Given the description of an element on the screen output the (x, y) to click on. 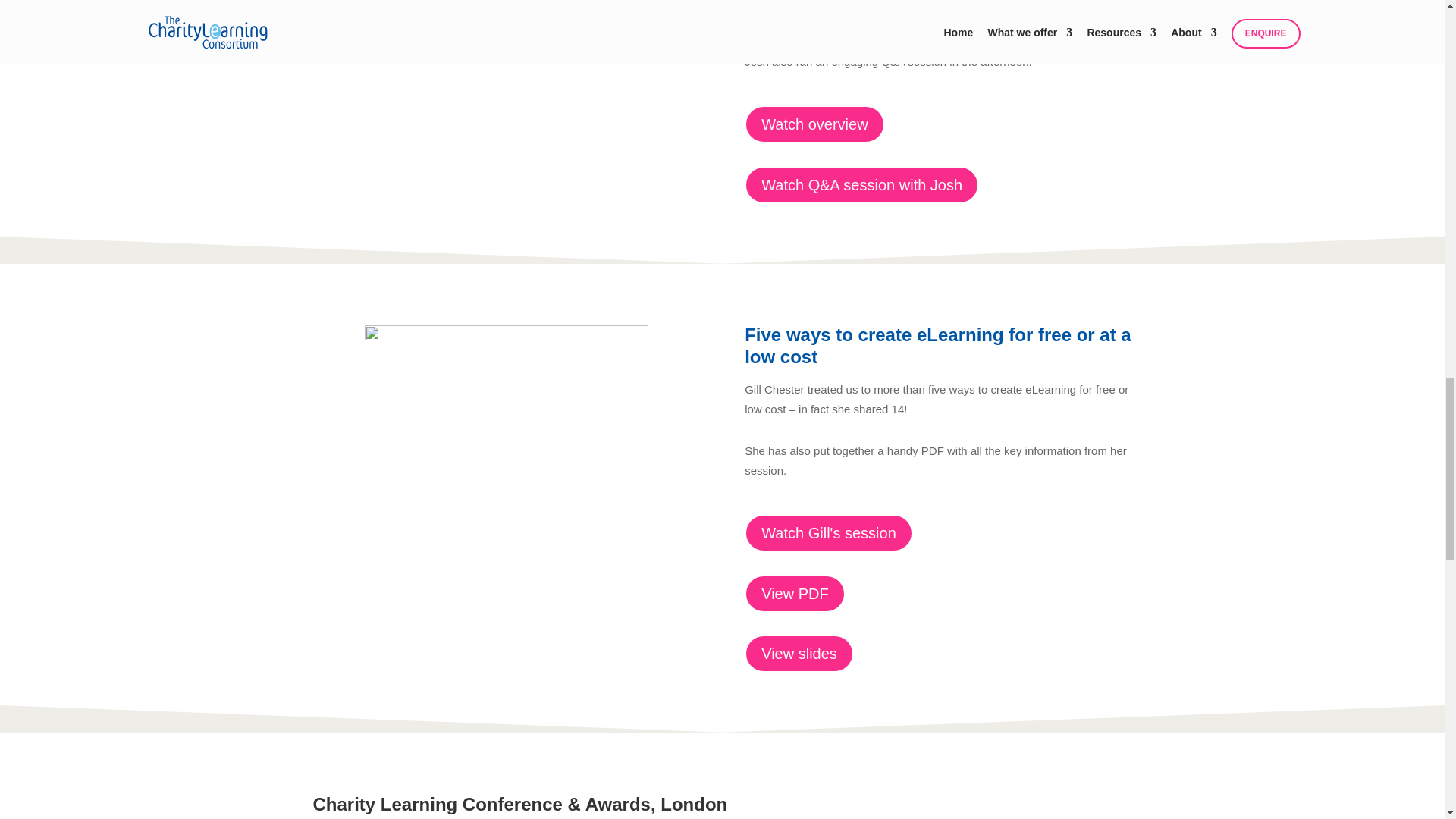
3 (506, 442)
Watch overview (813, 124)
View PDF (794, 593)
Watch Gill's session (828, 533)
View slides (798, 653)
